Given the description of an element on the screen output the (x, y) to click on. 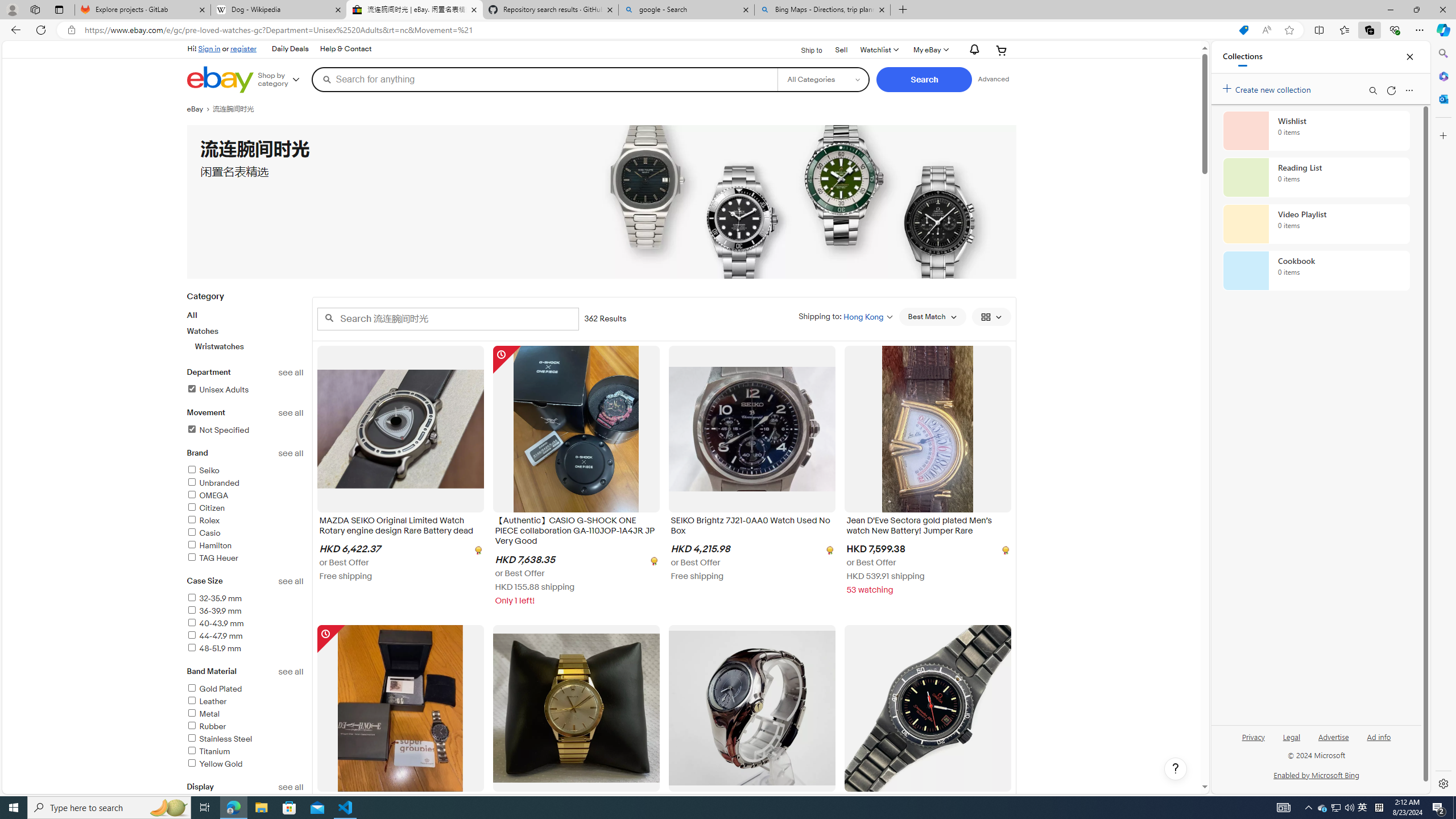
AllWatchesWristwatches (245, 330)
eBay Home (219, 79)
This site has coupons! Shopping in Microsoft Edge, 20 (1243, 29)
Stainless Steel (218, 738)
